Given the description of an element on the screen output the (x, y) to click on. 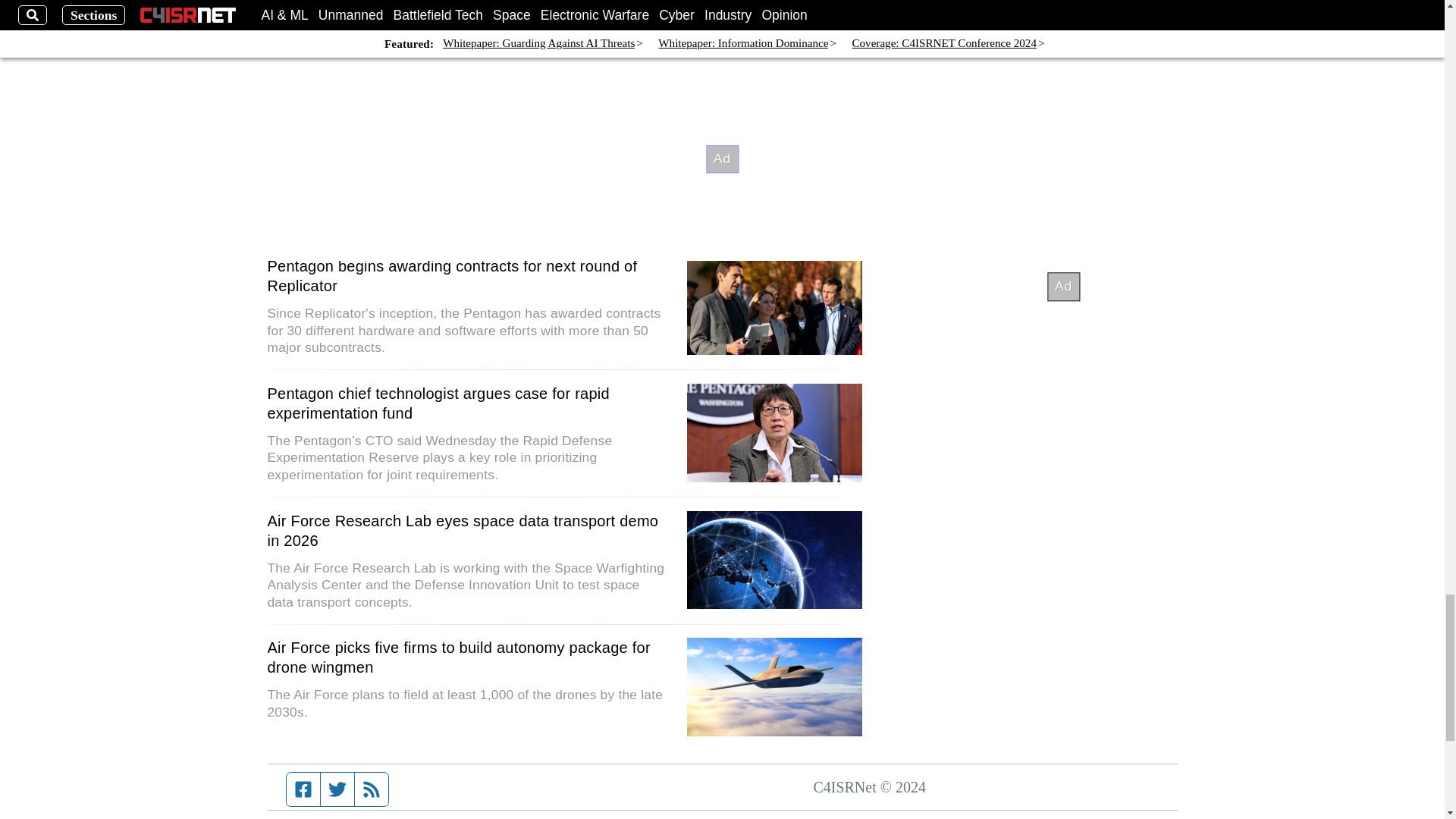
Facebook page (303, 789)
Twitter feed (336, 789)
RSS feed (371, 789)
